Given the description of an element on the screen output the (x, y) to click on. 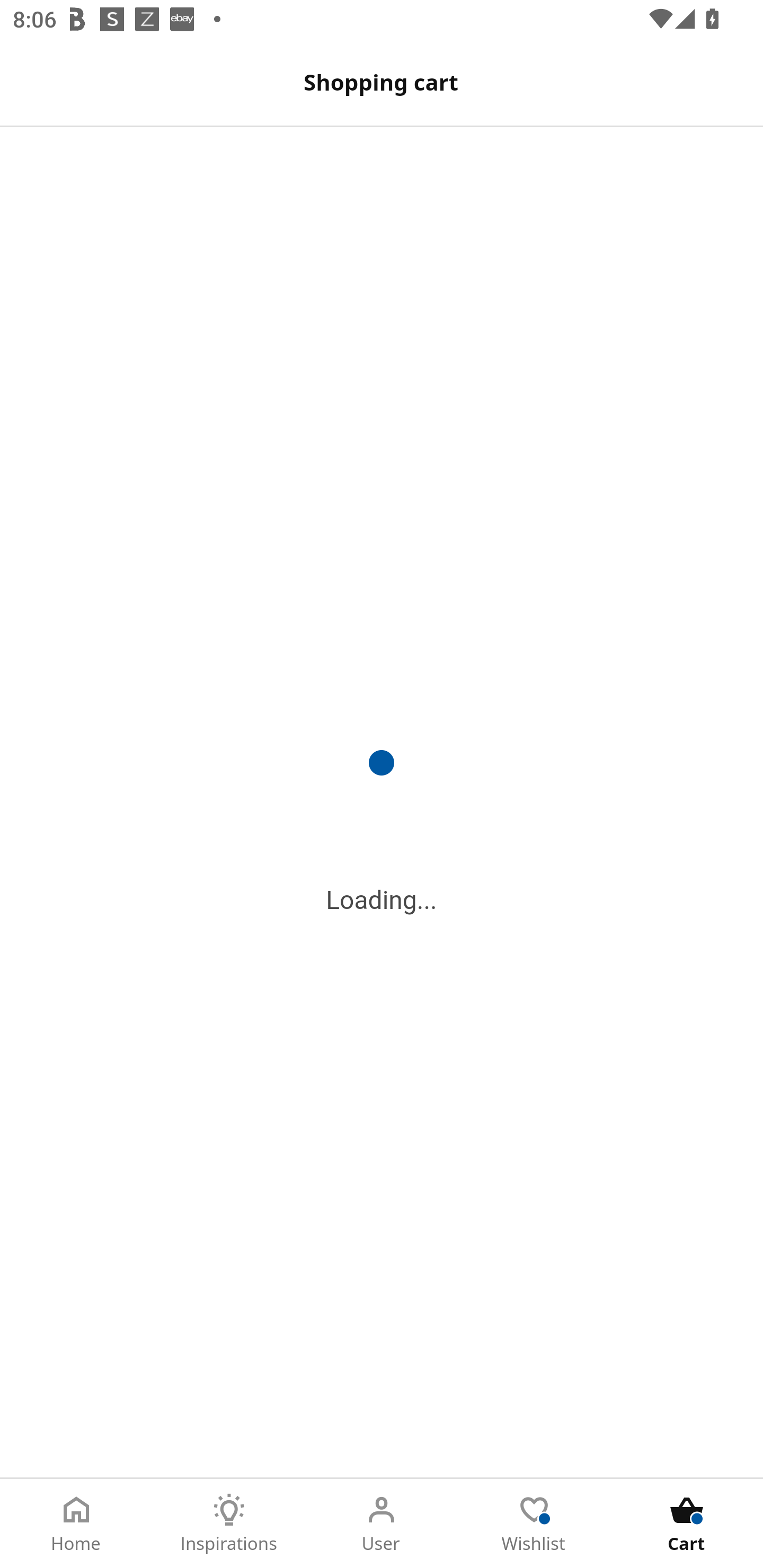
Home
Tab 1 of 5 (76, 1522)
Inspirations
Tab 2 of 5 (228, 1522)
User
Tab 3 of 5 (381, 1522)
Wishlist
Tab 4 of 5 (533, 1522)
Cart
Tab 5 of 5 (686, 1522)
